Given the description of an element on the screen output the (x, y) to click on. 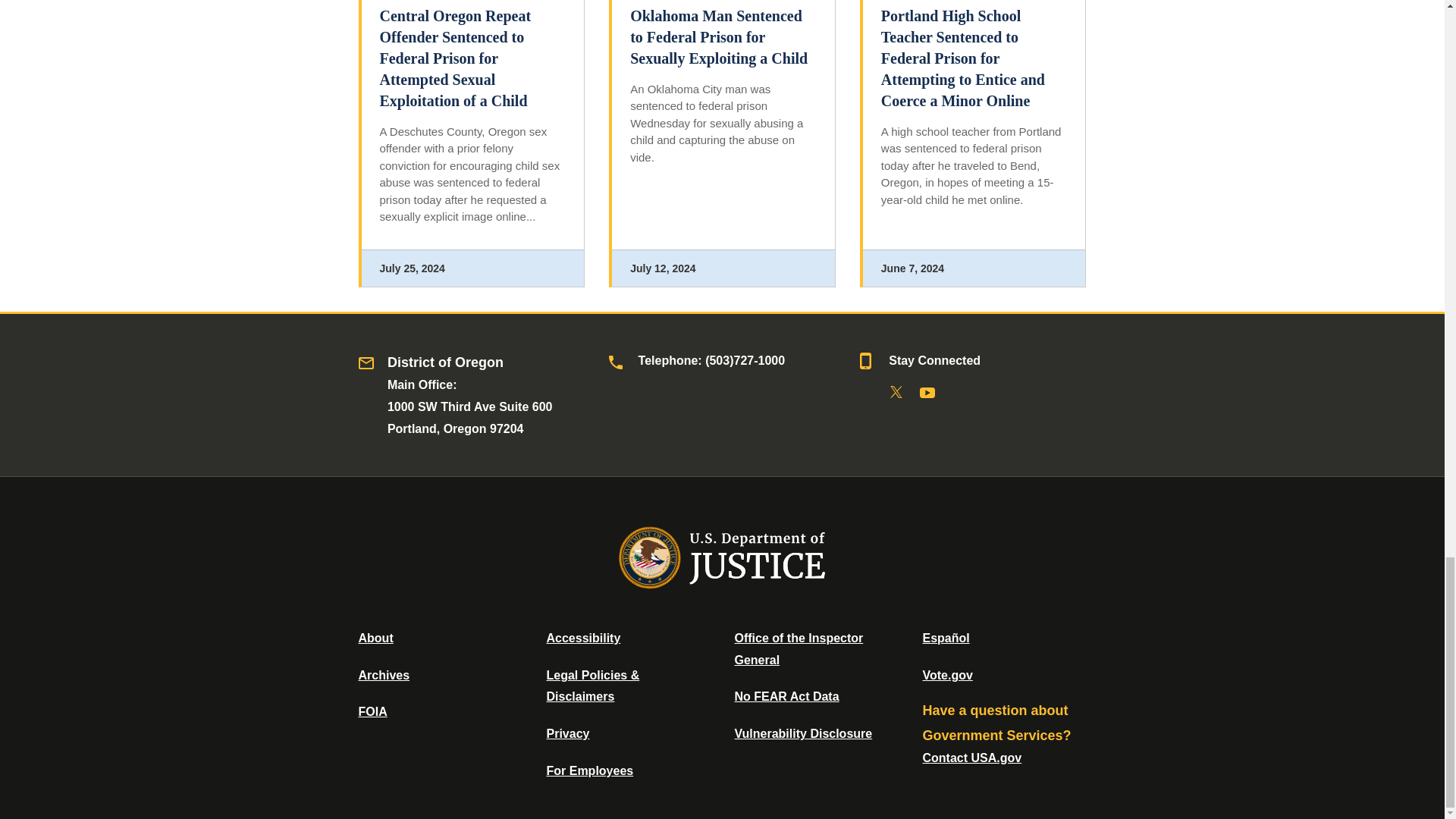
Data Posted Pursuant To The No Fear Act (785, 696)
Accessibility Statement (583, 637)
About DOJ (375, 637)
Office of Information Policy (372, 711)
Legal Policies and Disclaimers (592, 686)
For Employees (589, 770)
Department of Justice Archive (383, 675)
